Given the description of an element on the screen output the (x, y) to click on. 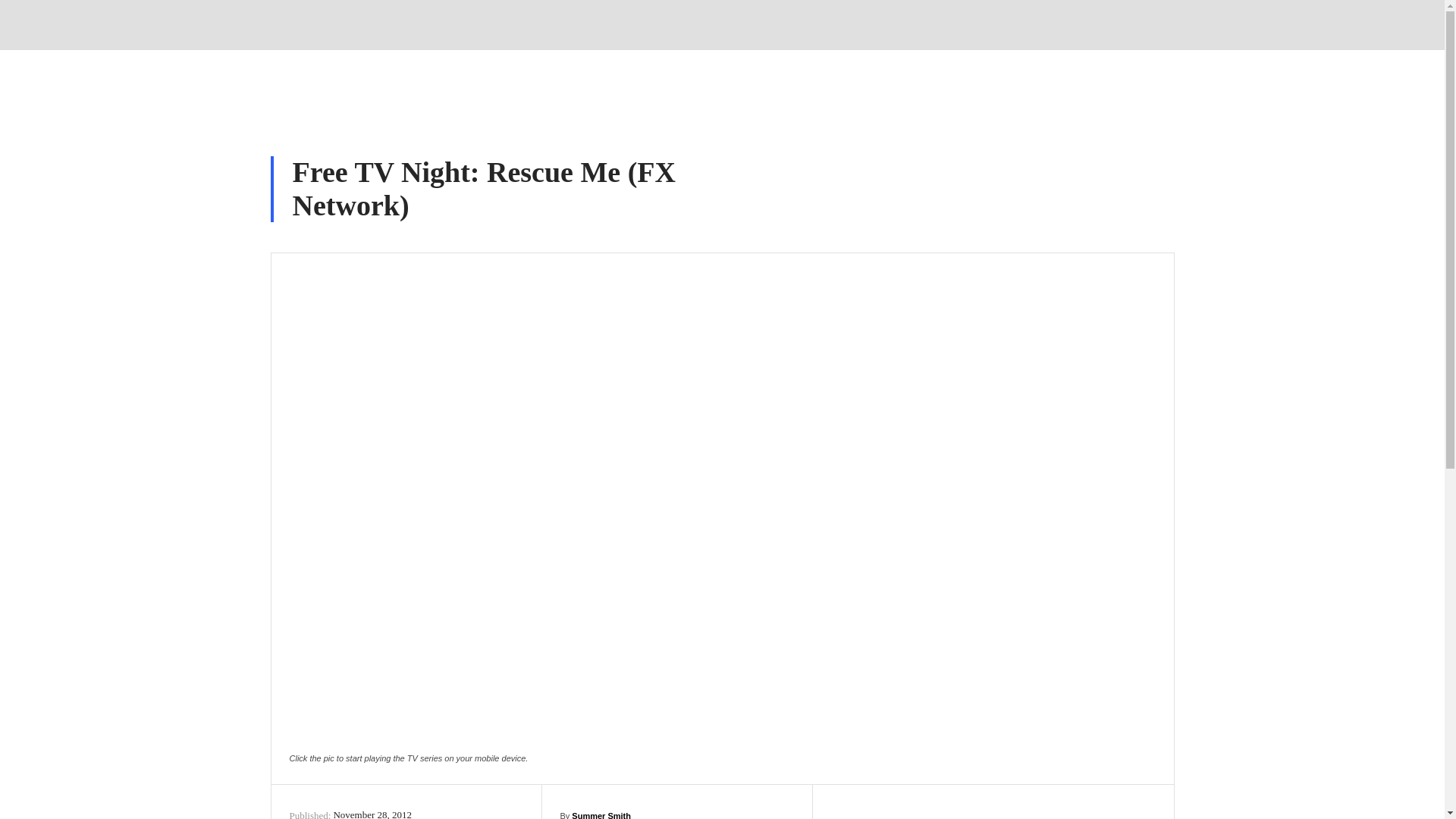
Summer Smith (601, 811)
